Given the description of an element on the screen output the (x, y) to click on. 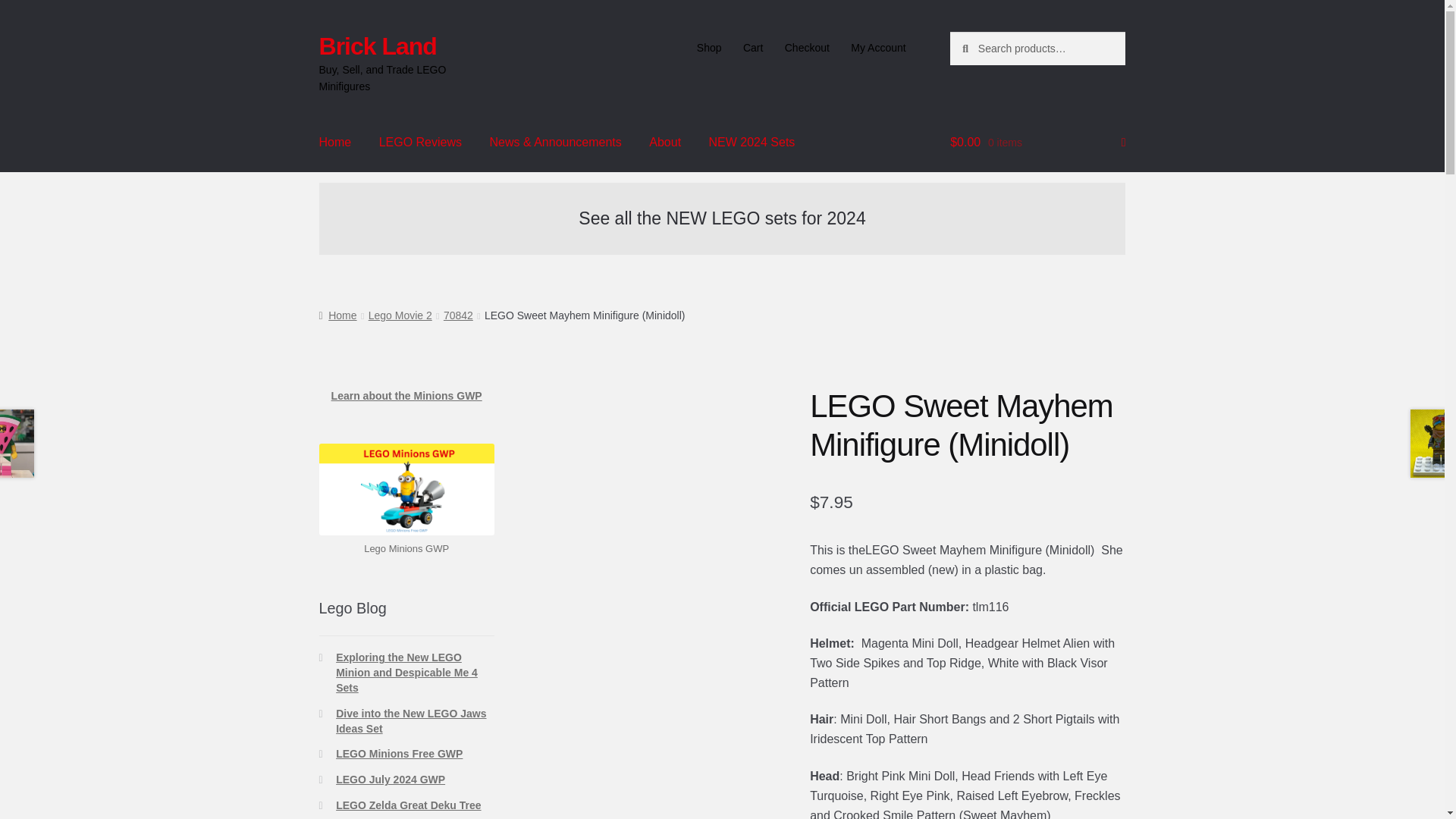
Shop (708, 47)
70842 (458, 315)
Checkout (806, 47)
Cart (753, 47)
NEW 2024 Sets (752, 142)
LEGO Reviews (420, 142)
Brick Land (377, 45)
Lego Movie 2 (400, 315)
Home (335, 142)
About (665, 142)
